Given the description of an element on the screen output the (x, y) to click on. 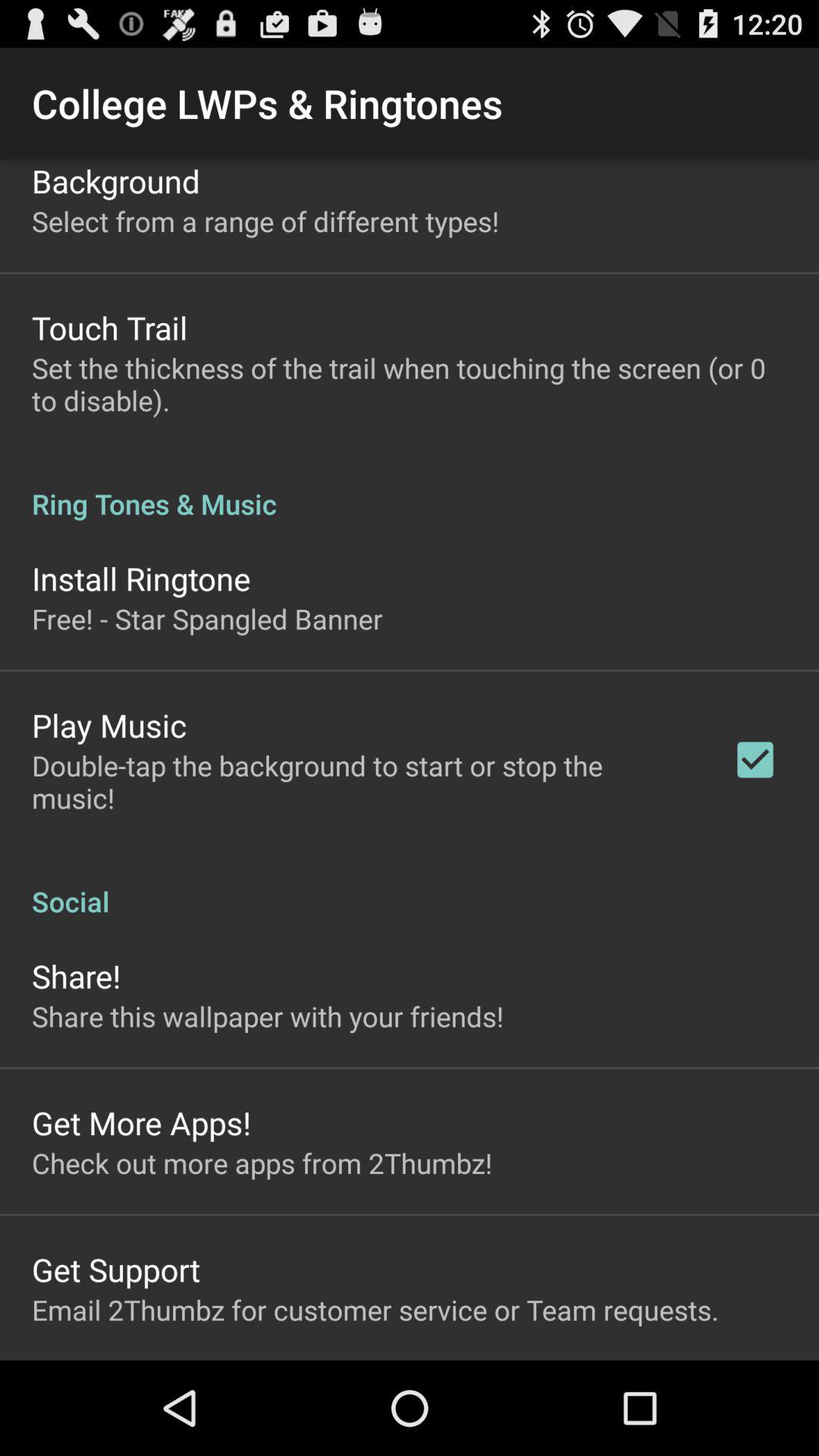
jump to set the thickness item (409, 384)
